Given the description of an element on the screen output the (x, y) to click on. 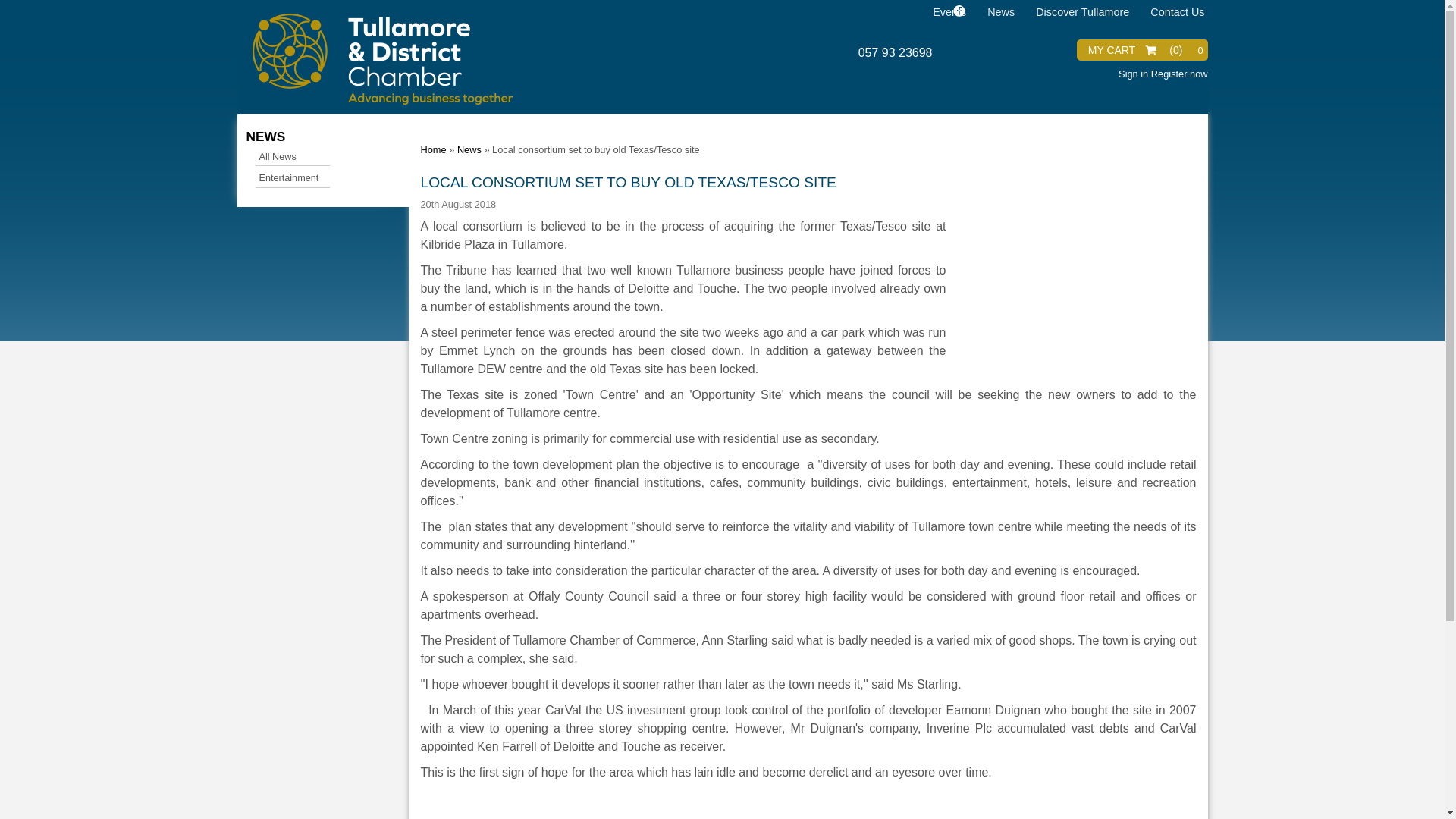
Register now (1179, 73)
057 93 23698 (896, 51)
Home (432, 149)
News (469, 149)
All News (292, 157)
Discover Tullamore (1079, 10)
Contact Us (1174, 10)
Events (946, 10)
News (998, 10)
Sign in (1133, 73)
Entertainment (292, 178)
Facebook (957, 11)
